Given the description of an element on the screen output the (x, y) to click on. 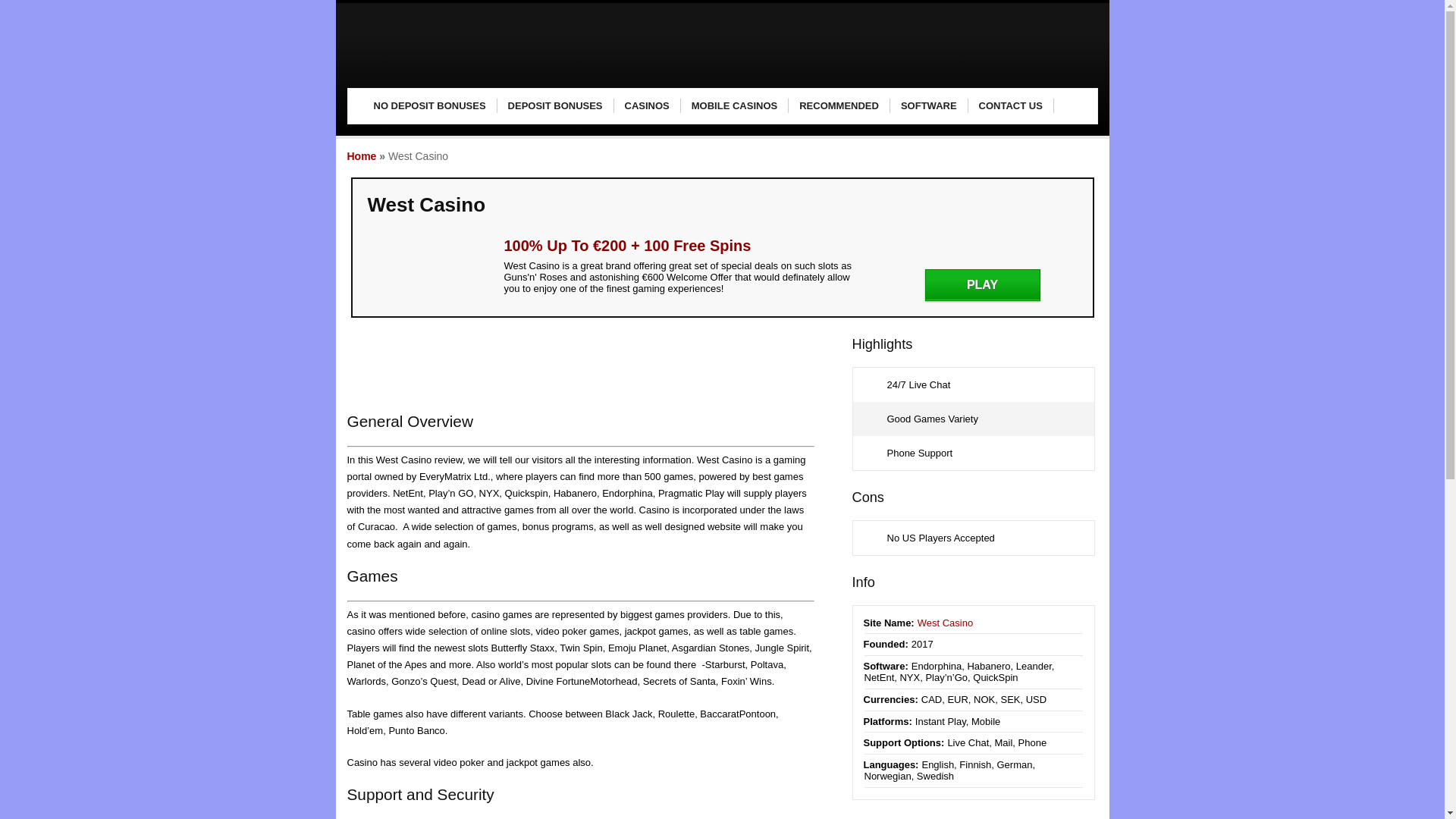
Home (362, 155)
CASINOS (647, 105)
DEPOSIT BONUSES (555, 105)
NO DEPOSIT BONUSES (429, 105)
West Casino (944, 622)
RECOMMENDED (839, 105)
ViVaBonus (442, 71)
CONTACT US (1011, 105)
PLAY (982, 285)
MOBILE CASINOS (735, 105)
